Given the description of an element on the screen output the (x, y) to click on. 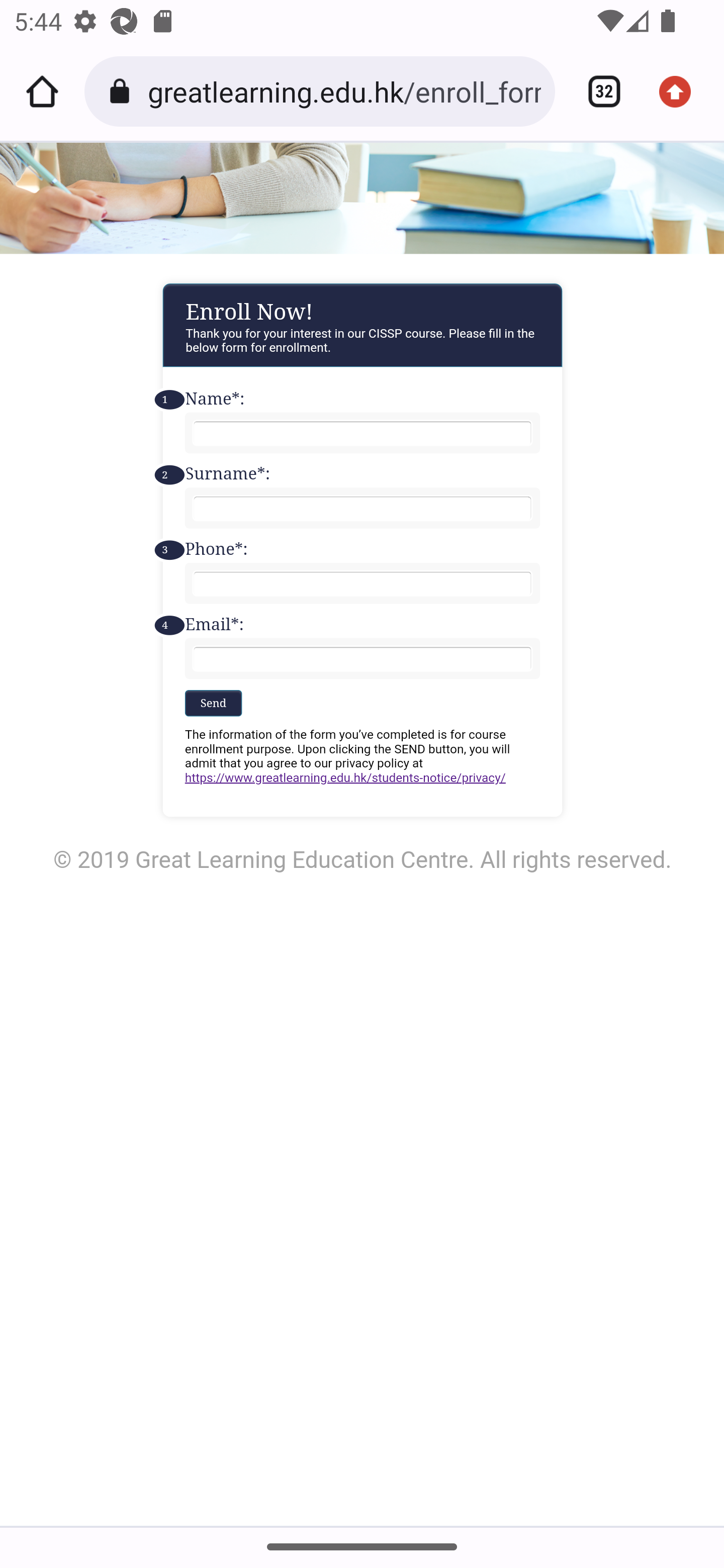
Home (42, 91)
Connection is secure (122, 91)
Switch or close tabs (597, 91)
Update available. More options (681, 91)
Send (213, 702)
